Given the description of an element on the screen output the (x, y) to click on. 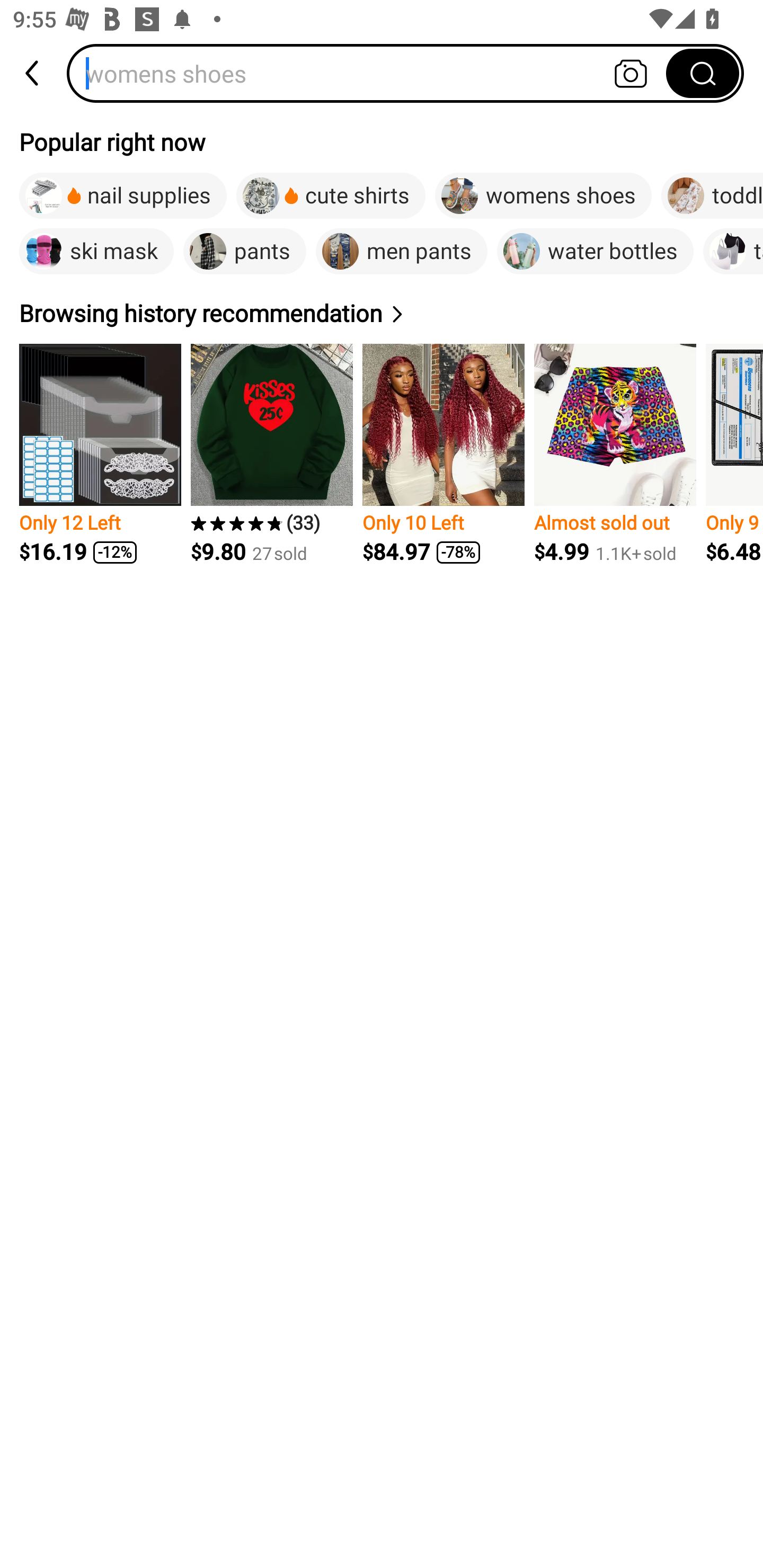
back (33, 72)
womens shoes (372, 73)
Search by photo (630, 73)
nail supplies (122, 195)
cute shirts (330, 195)
womens shoes (542, 195)
ski mask (96, 251)
pants (244, 251)
men pants (401, 251)
water bottles (594, 251)
Browsing history recommendation (213, 313)
Only 12 Left $16.19 -12% (100, 453)
(33) $9.80 27￼sold (271, 453)
Only 10 Left $84.97 -78% (443, 453)
Almost sold out $4.99 1.1K+￼sold (614, 453)
